Given the description of an element on the screen output the (x, y) to click on. 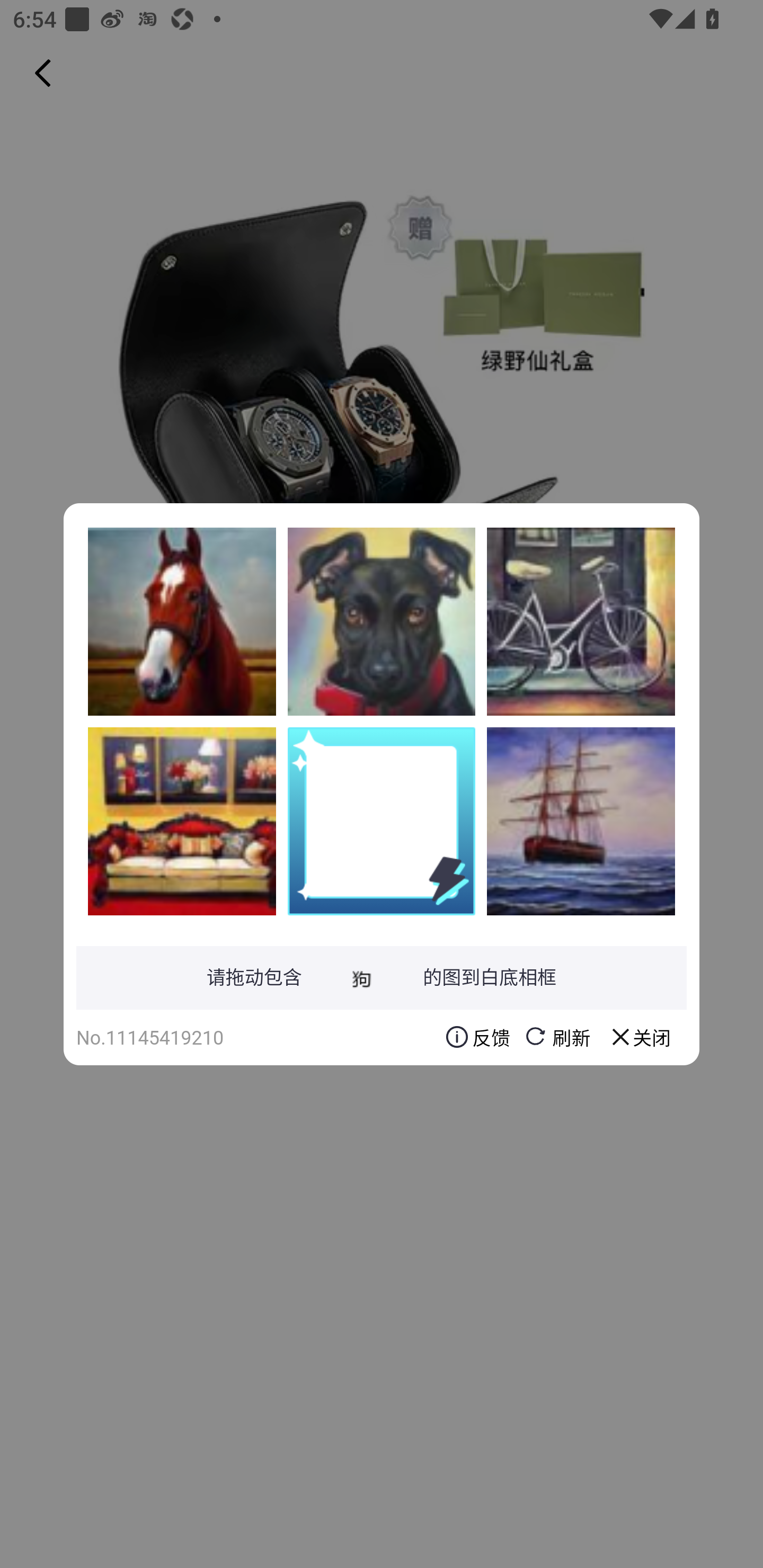
LQSkOLcgG6J (580, 820)
